Given the description of an element on the screen output the (x, y) to click on. 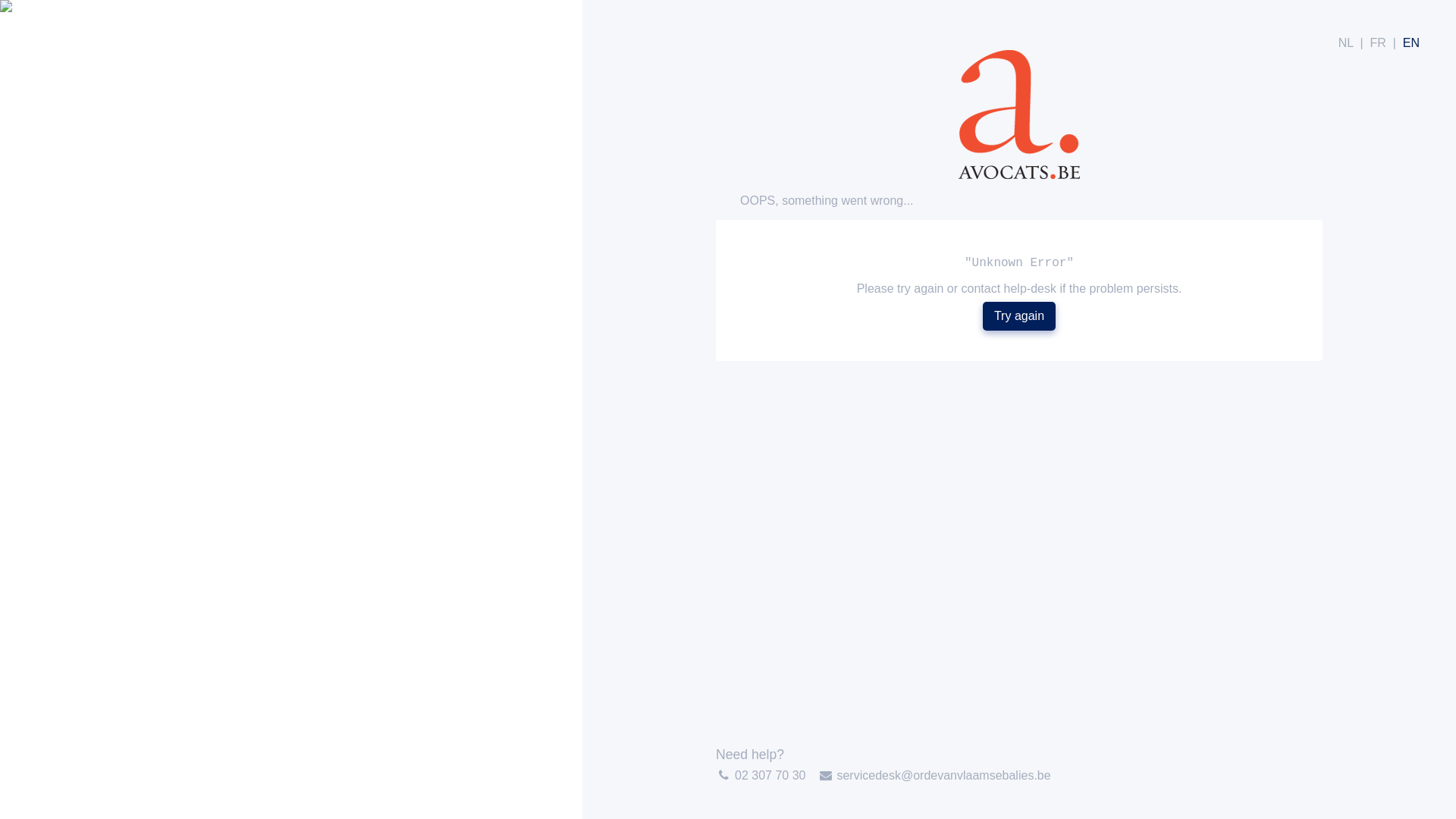
02 307 70 30 Element type: text (769, 774)
servicedesk@ordevanvlaamsebalies.be Element type: text (943, 774)
Try again Element type: text (1018, 315)
